Given the description of an element on the screen output the (x, y) to click on. 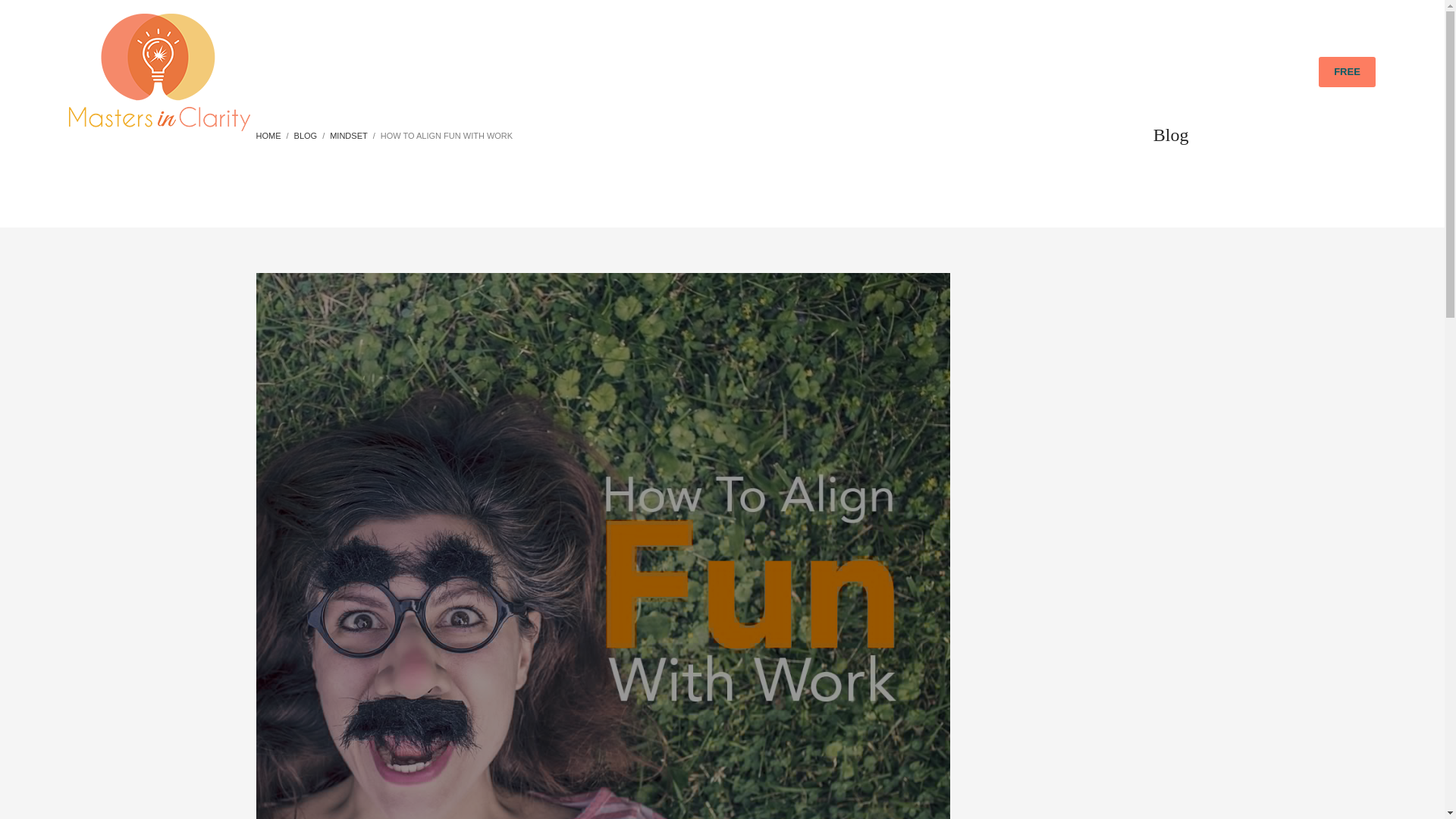
Blog (305, 135)
Start Here (1347, 71)
MINDSET (349, 135)
MEDIA (1261, 71)
HOME (268, 135)
ABOUT (969, 71)
WORK WITH US (1052, 71)
BLOG (1206, 71)
